Given the description of an element on the screen output the (x, y) to click on. 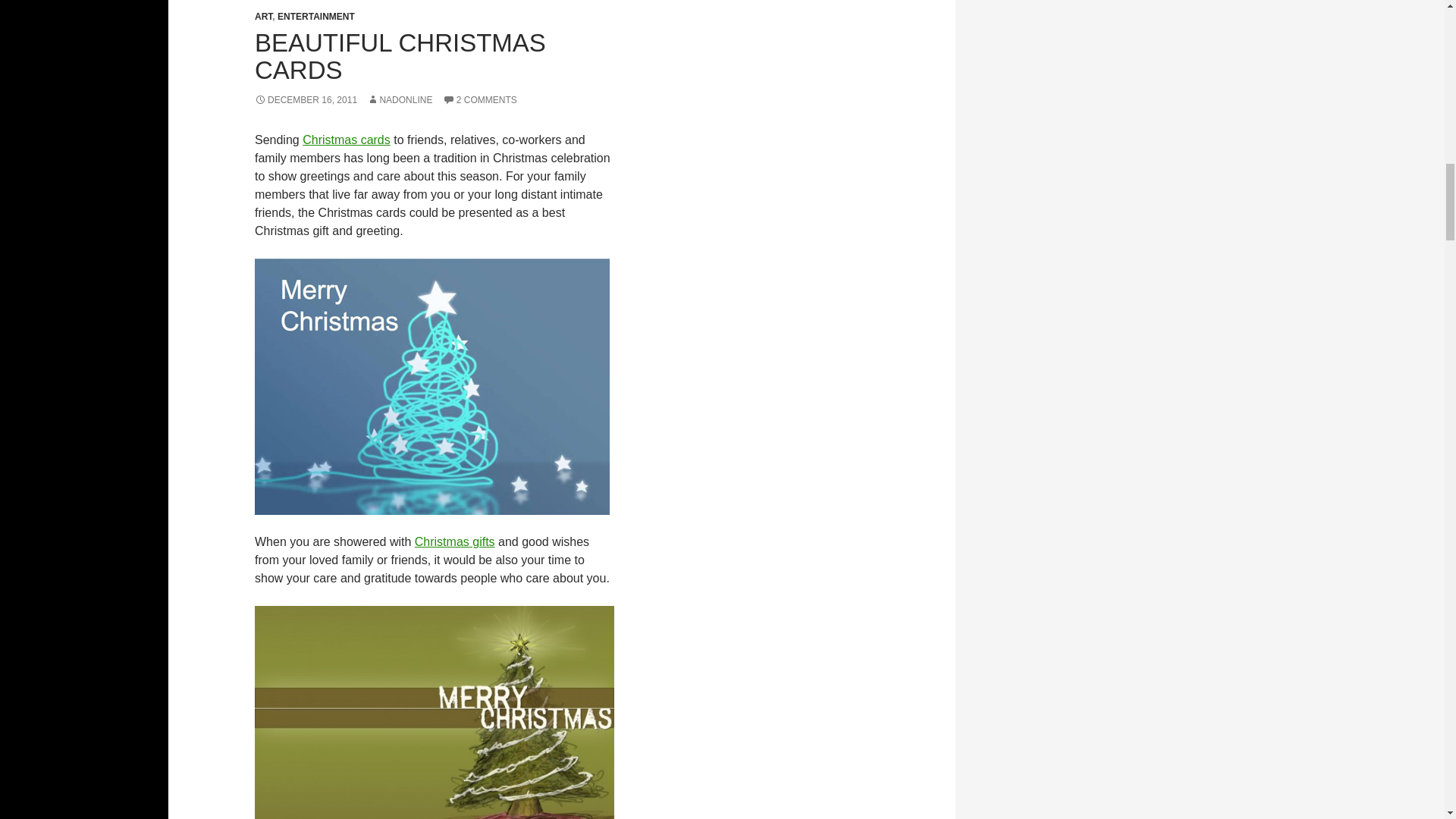
CHRISTMAS CARD (434, 712)
Beautiful Christmas Cards (346, 139)
CHRISTMAS CARD PRINTING (432, 386)
